Given the description of an element on the screen output the (x, y) to click on. 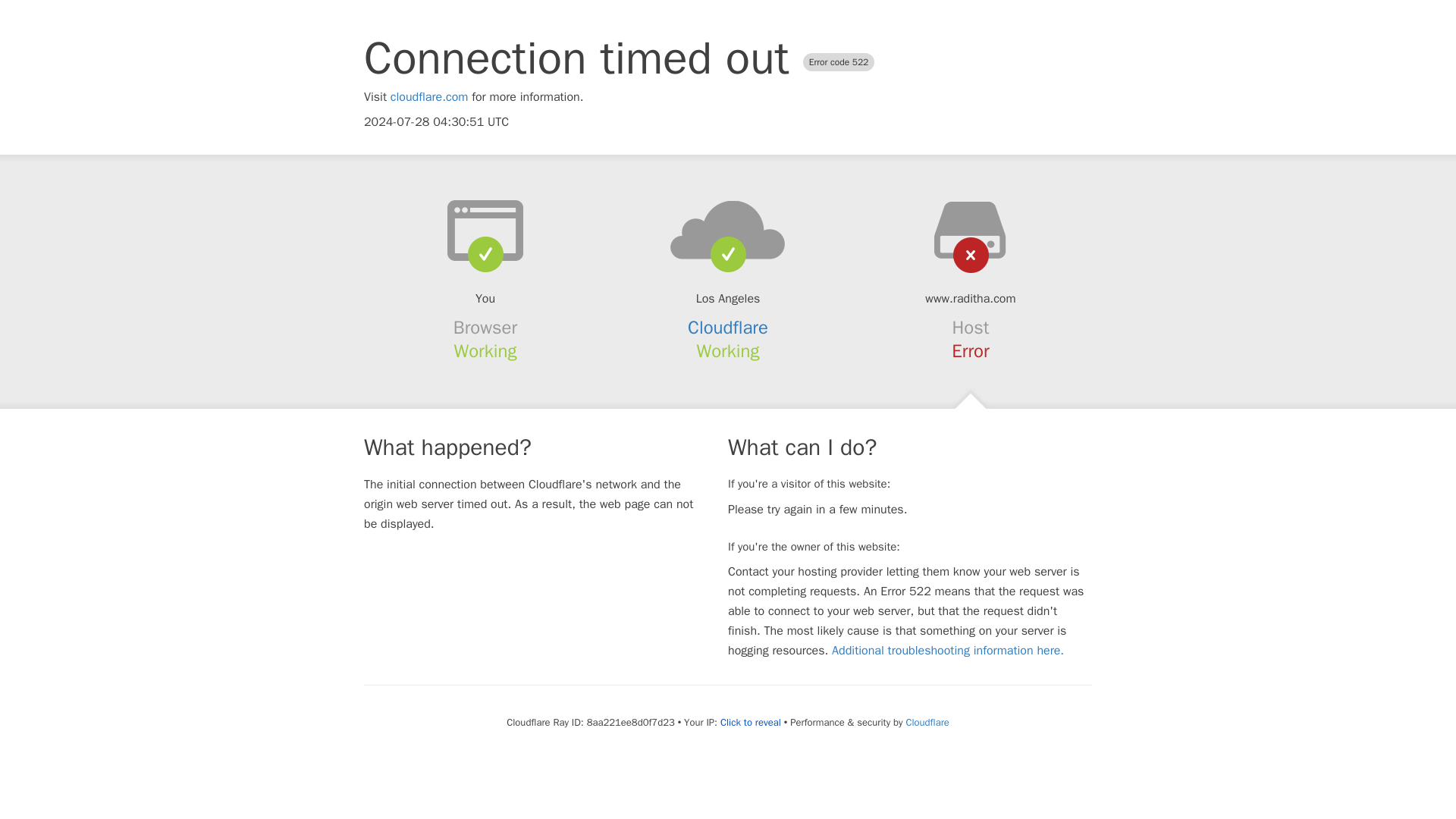
cloudflare.com (429, 96)
Cloudflare (727, 327)
Additional troubleshooting information here. (947, 650)
Cloudflare (927, 721)
Click to reveal (750, 722)
